Given the description of an element on the screen output the (x, y) to click on. 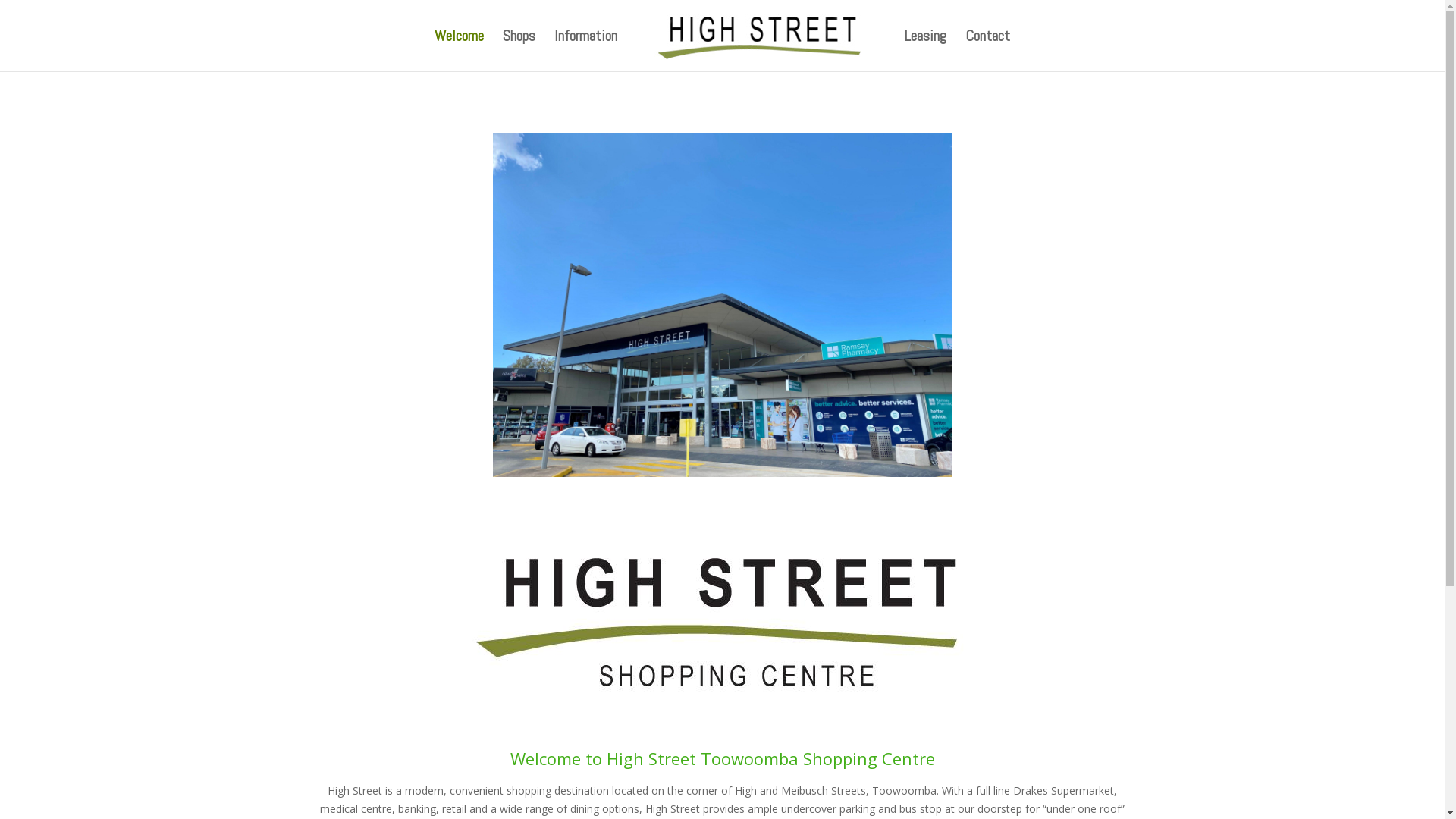
HS front Aug 2023 Element type: hover (721, 304)
Contact Element type: text (987, 50)
Leasing Element type: text (924, 50)
Layout 1 Element type: hover (722, 615)
Information Element type: text (585, 50)
Shops Element type: text (518, 50)
Welcome Element type: text (458, 50)
